Given the description of an element on the screen output the (x, y) to click on. 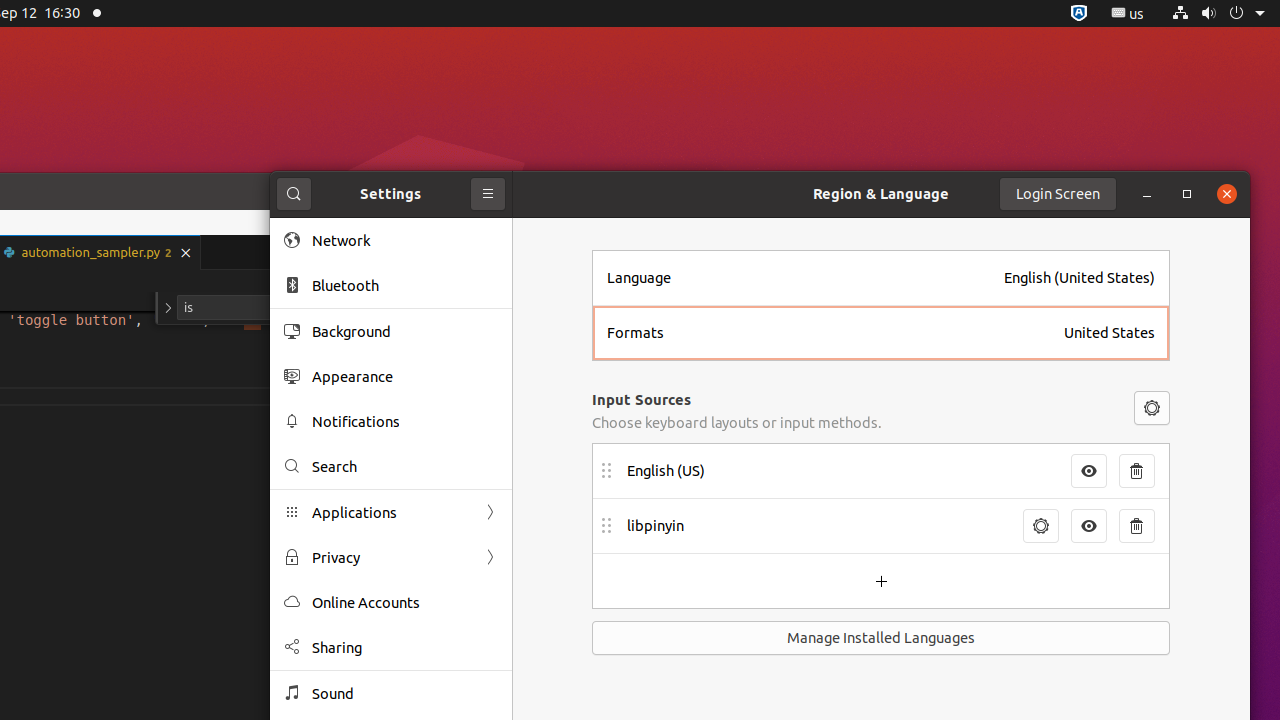
Primary Menu Element type: toggle-button (488, 194)
Maximize Element type: push-button (1187, 194)
Minimize Element type: push-button (1147, 194)
Online Accounts Element type: label (405, 602)
Applications Element type: label (391, 512)
